Given the description of an element on the screen output the (x, y) to click on. 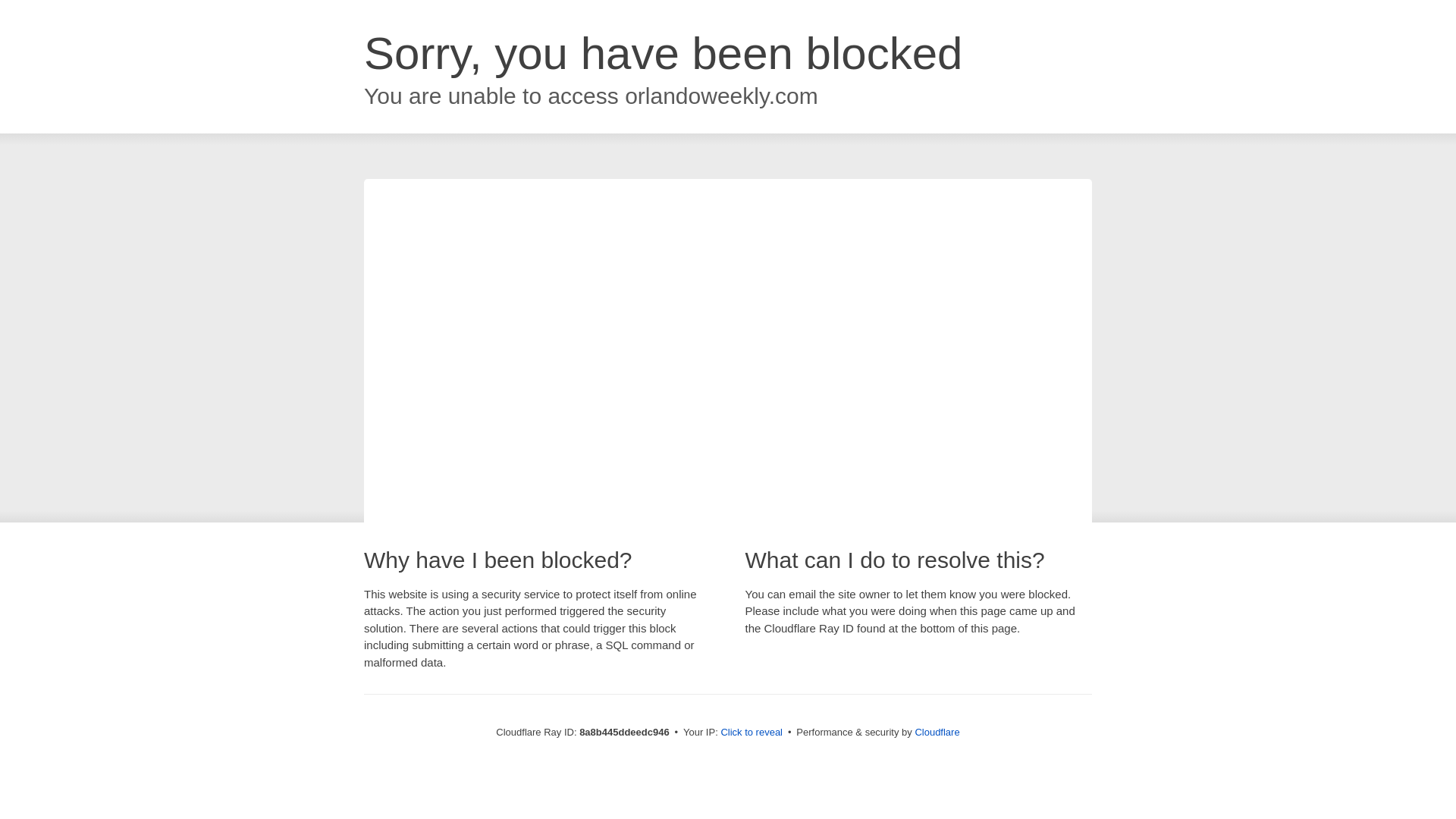
Cloudflare (936, 731)
Click to reveal (751, 732)
